Given the description of an element on the screen output the (x, y) to click on. 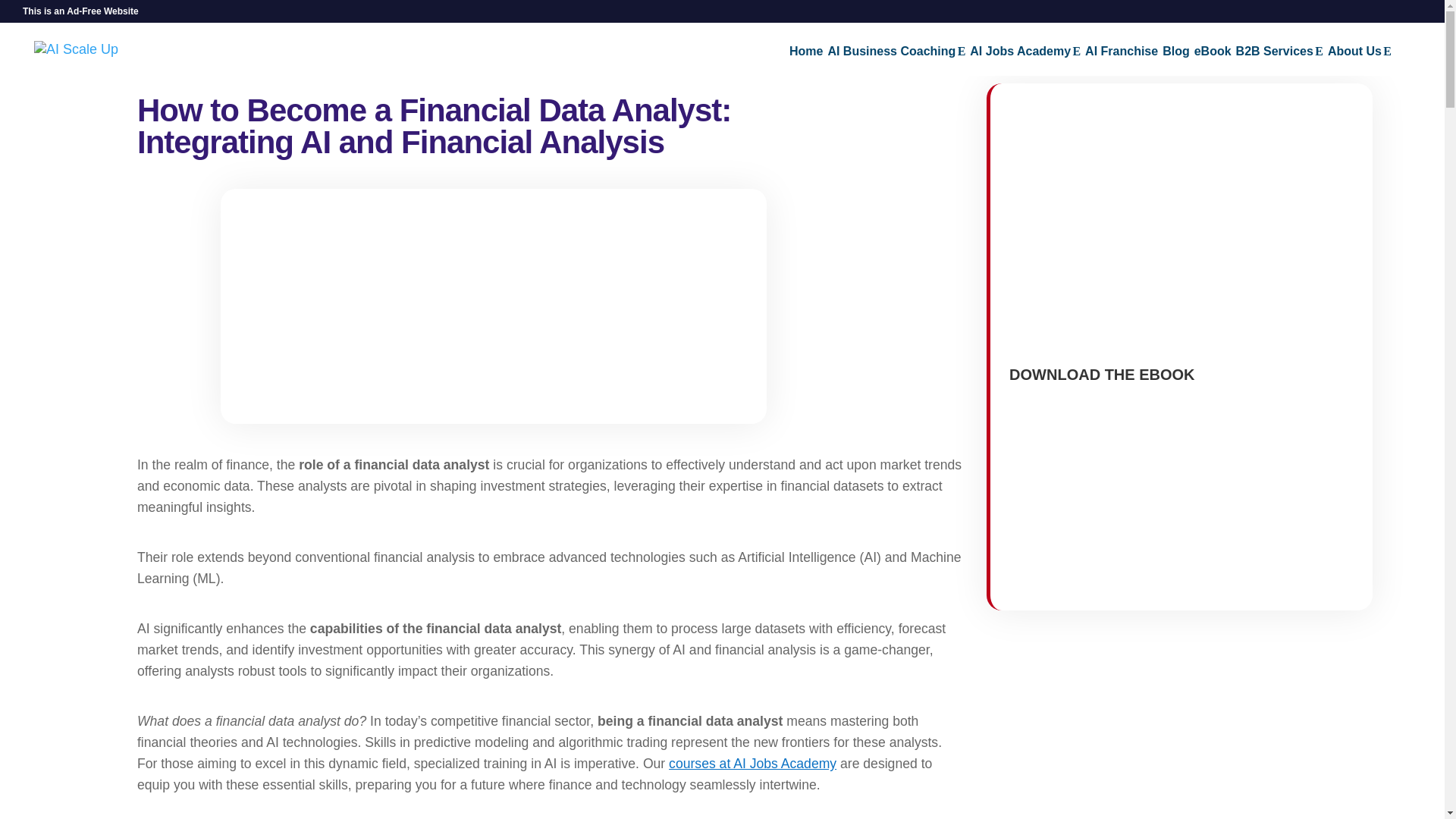
courses at AI Jobs Academy (751, 763)
B2B Services (1279, 60)
Home (805, 60)
AI Jobs Academy (1024, 60)
AI Business Coaching (896, 60)
About Us (1359, 60)
AI Franchise (1120, 60)
eBook (1212, 60)
This is an Ad-Free Website (80, 14)
